Given the description of an element on the screen output the (x, y) to click on. 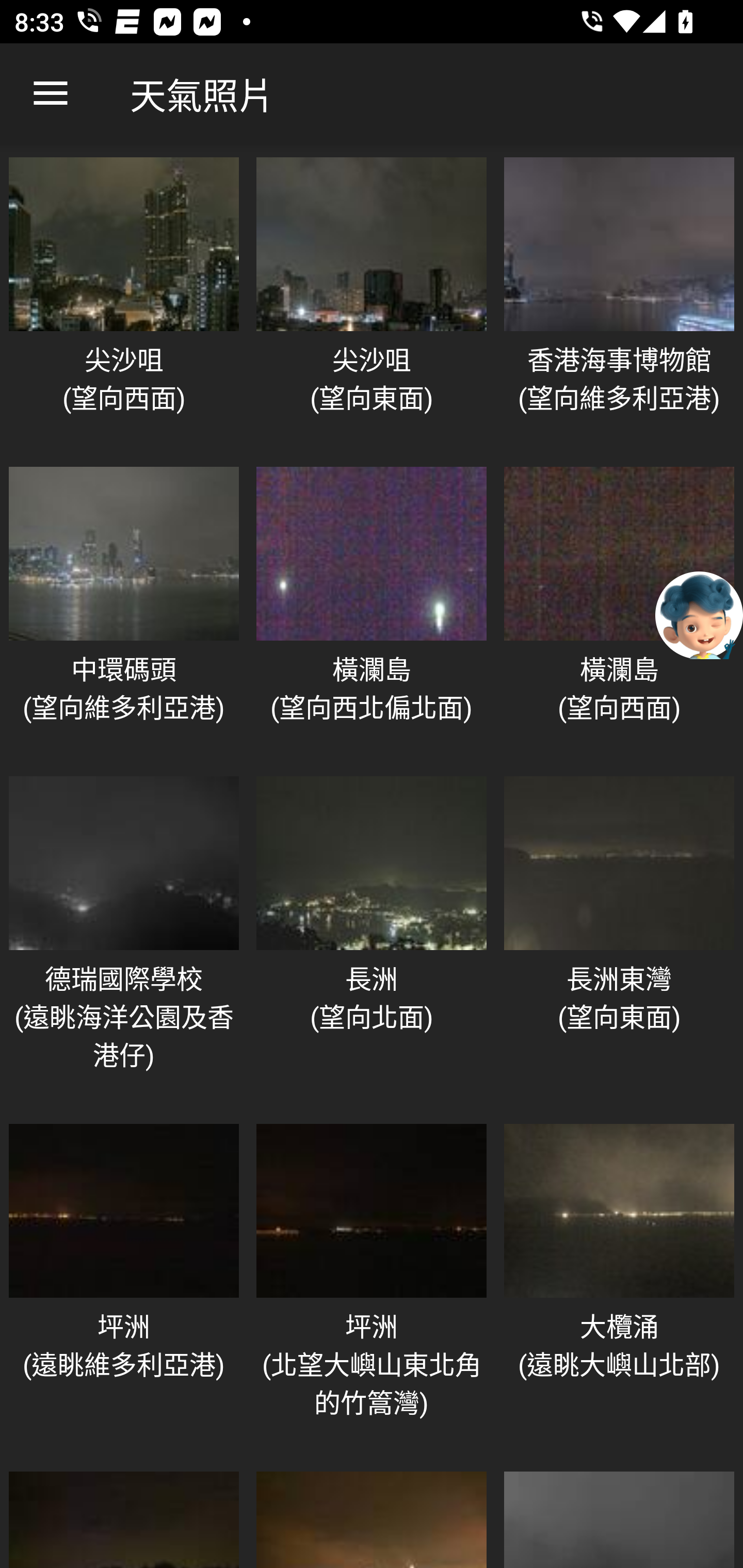
向上瀏覽 (50, 93)
尖沙咀
(望向西面) (123, 300)
尖沙咀
(望向東面) (371, 300)
香港海事博物館
(望向維多利亞港) (619, 300)
中環碼頭
(望向維多利亞港) (123, 610)
橫瀾島
(望向西北偏北面) (371, 610)
橫瀾島
(望向西面) (619, 610)
聊天機械人 (699, 614)
德瑞國際學校
(遠眺海洋公園及香港仔) (123, 939)
長洲
(望向北面) (371, 939)
長洲東灣
(望向東面) (619, 939)
坪洲
(遠眺維多利亞港) (123, 1287)
坪洲
(北望大嶼山東北角的竹篙灣) (371, 1287)
大欖涌
(遠眺大嶼山北部) (619, 1287)
